Given the description of an element on the screen output the (x, y) to click on. 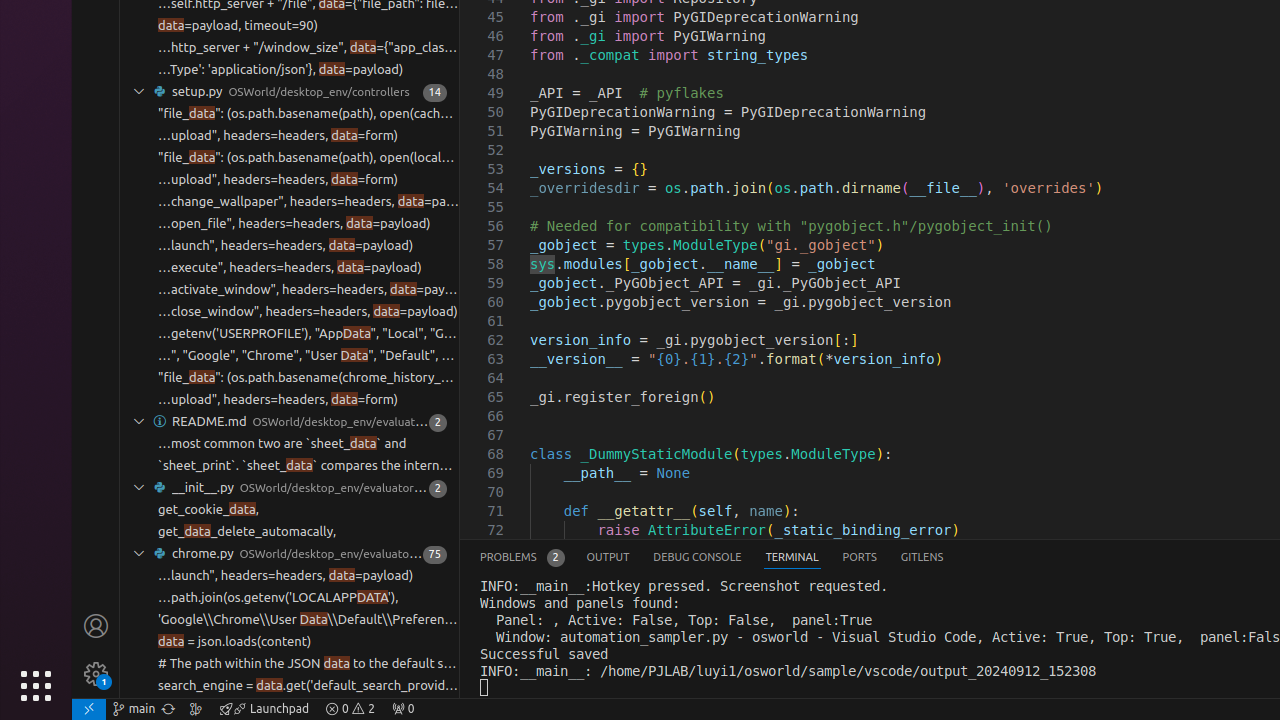
Problems (Ctrl+Shift+M) - Total 2 Problems Element type: page-tab (521, 557)
' "file_data": (os.path.basename(path), open(cache_path, "rb"))' at column 23 found data Element type: tree-item (289, 113)
…launch", headers=headers, data=payload) Element type: link (286, 245)
' 'Google\\Chrome\\User Data\\Default\\Preferences'))""")['output'].strip()' at column 67 found Data Element type: tree-item (289, 619)
Ports Element type: page-tab (859, 557)
